Given the description of an element on the screen output the (x, y) to click on. 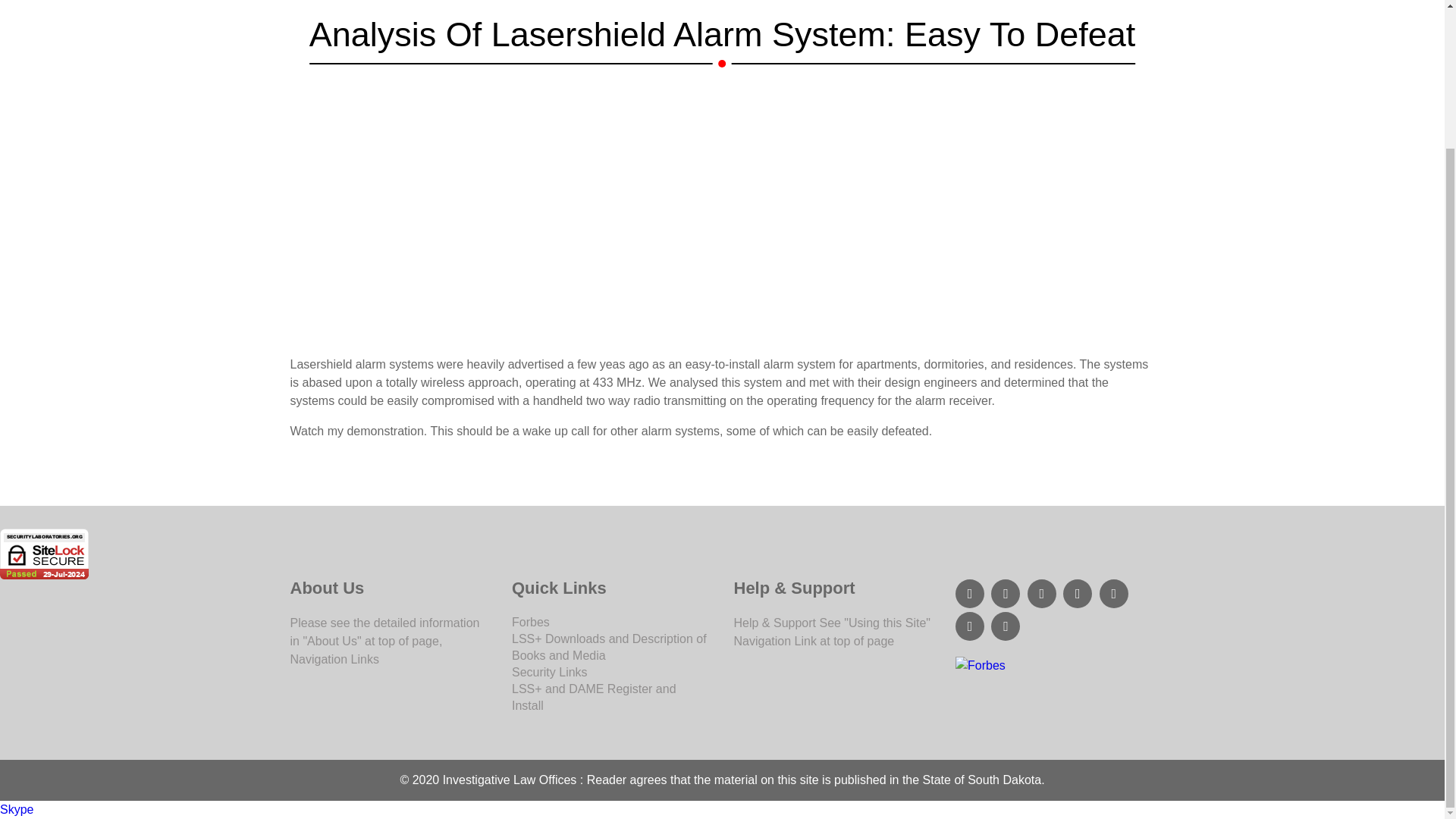
Security Links (550, 671)
SiteLock (44, 553)
Forbes (531, 621)
Forbes (1054, 665)
Skype (16, 809)
